Given the description of an element on the screen output the (x, y) to click on. 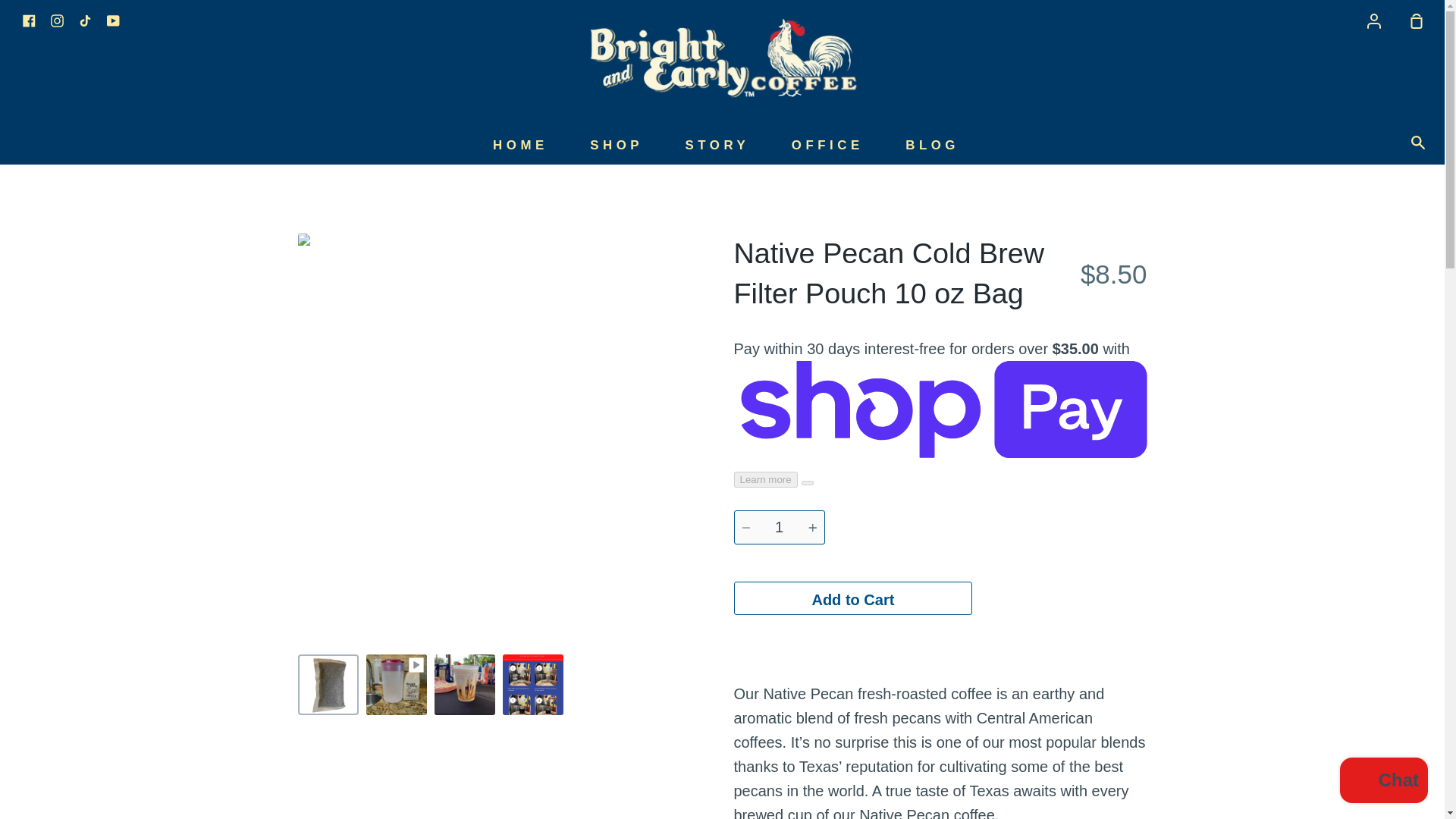
OFFICE (827, 144)
1 (779, 527)
Add to Cart (852, 598)
Account (1374, 19)
STORY (717, 144)
SHOP (616, 144)
Shopify online store chat (1383, 781)
BLOG (931, 144)
HOME (520, 144)
